Given the description of an element on the screen output the (x, y) to click on. 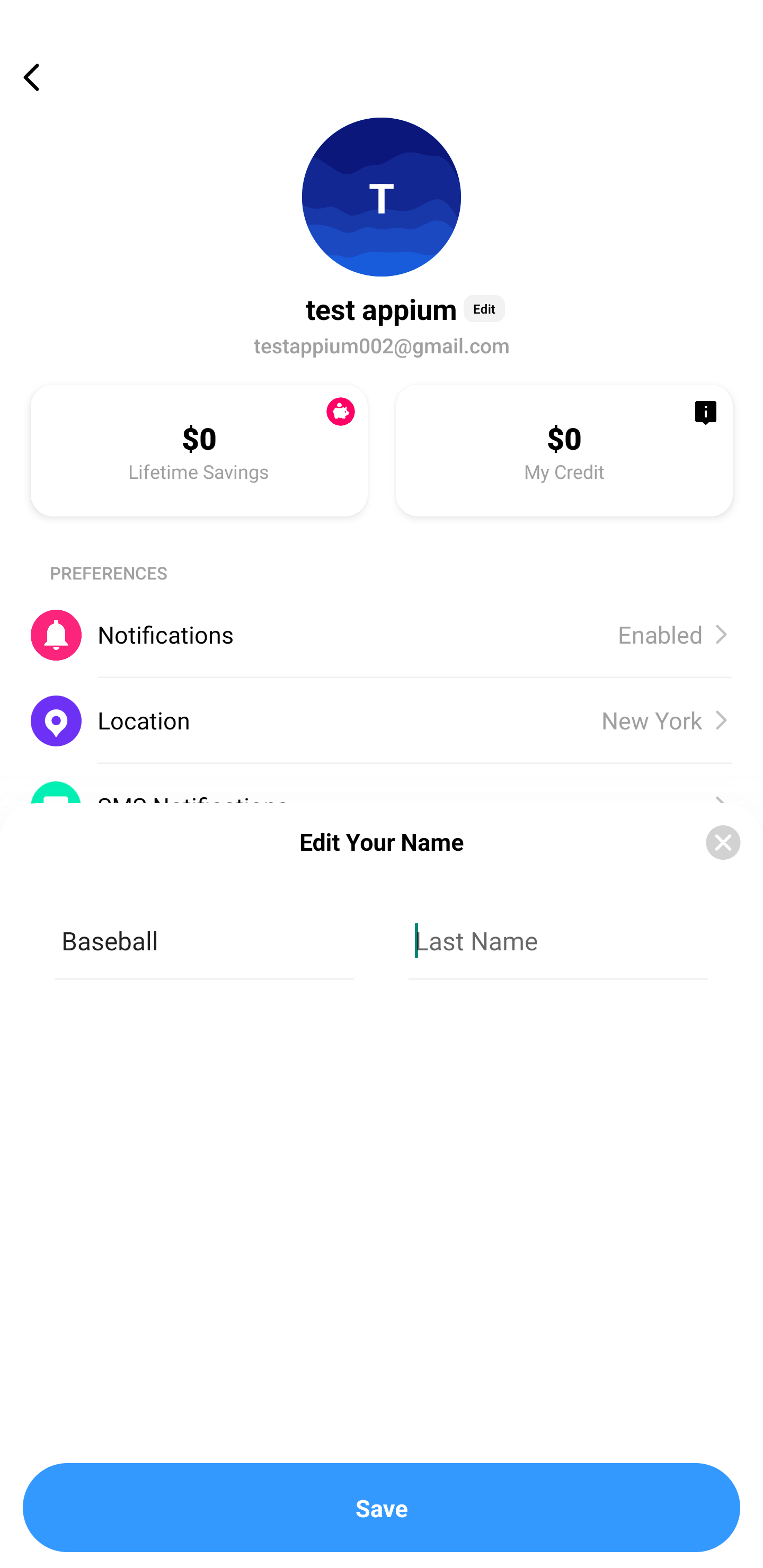
Baseball (204, 940)
Last Name (558, 940)
Save (381, 1507)
